Given the description of an element on the screen output the (x, y) to click on. 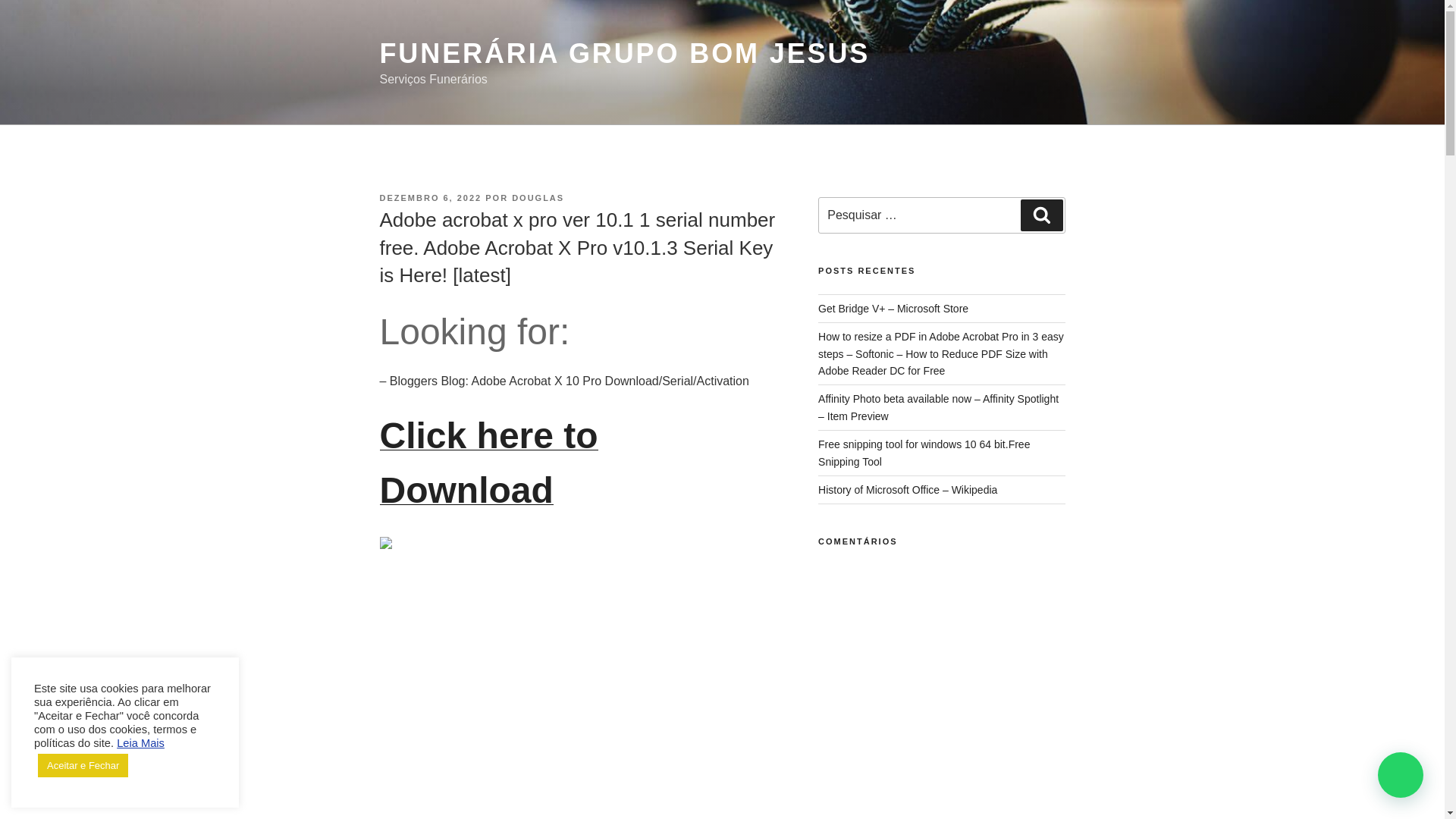
DEZEMBRO 6, 2022 (429, 197)
Leia Mais (140, 743)
DOUGLAS (538, 197)
Aceitar e Fechar (82, 765)
Click here to Download (487, 471)
Free snipping tool for windows 10 64 bit.Free Snipping Tool (923, 452)
